Given the description of an element on the screen output the (x, y) to click on. 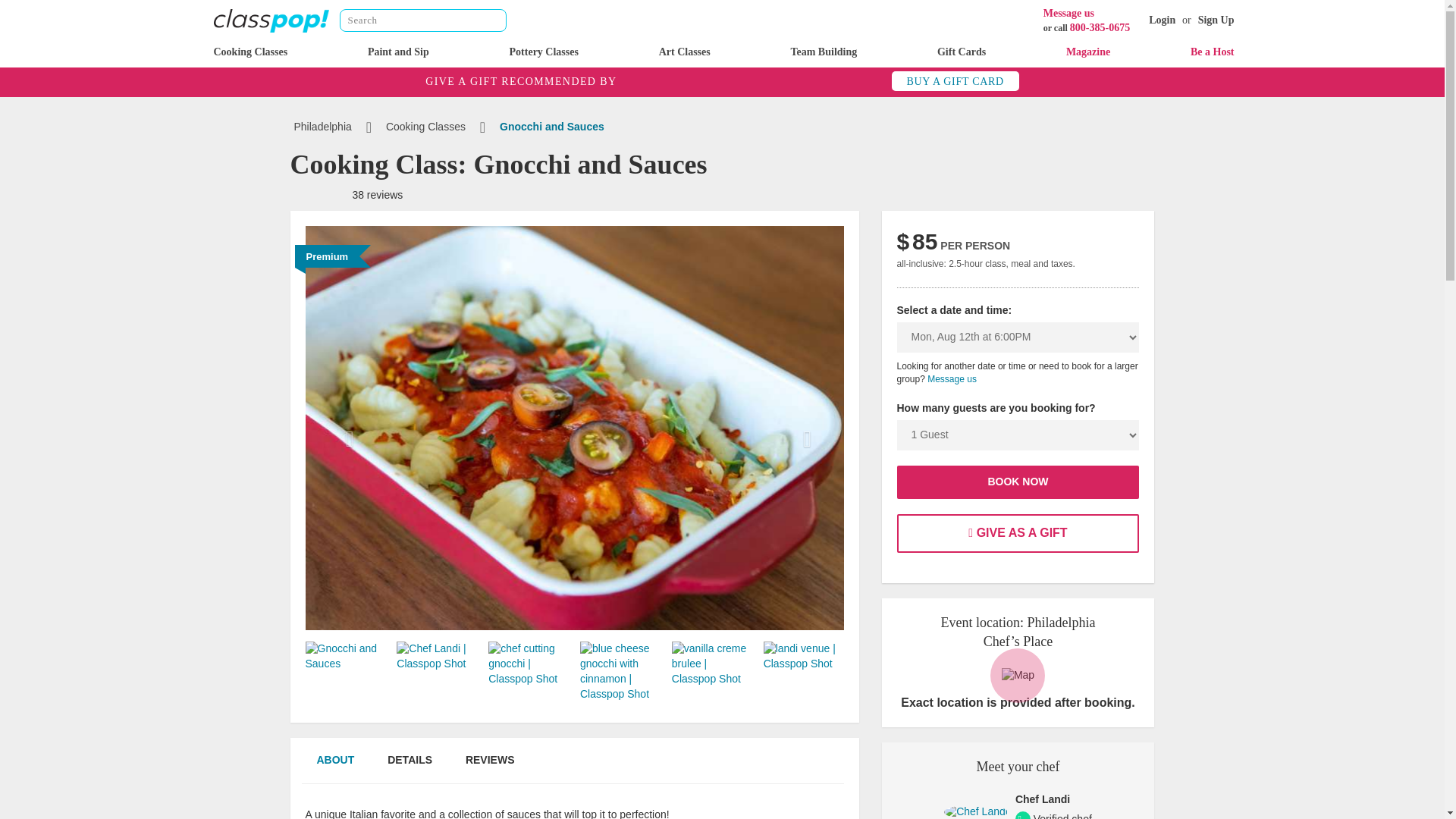
REVIEWS (489, 767)
Cooking Classes (251, 51)
ABOUT (334, 767)
Message us (1068, 12)
Login (1161, 19)
800-385-0675 (1099, 27)
Sign Up (1216, 19)
38 reviews (346, 194)
DETAILS (409, 767)
